Given the description of an element on the screen output the (x, y) to click on. 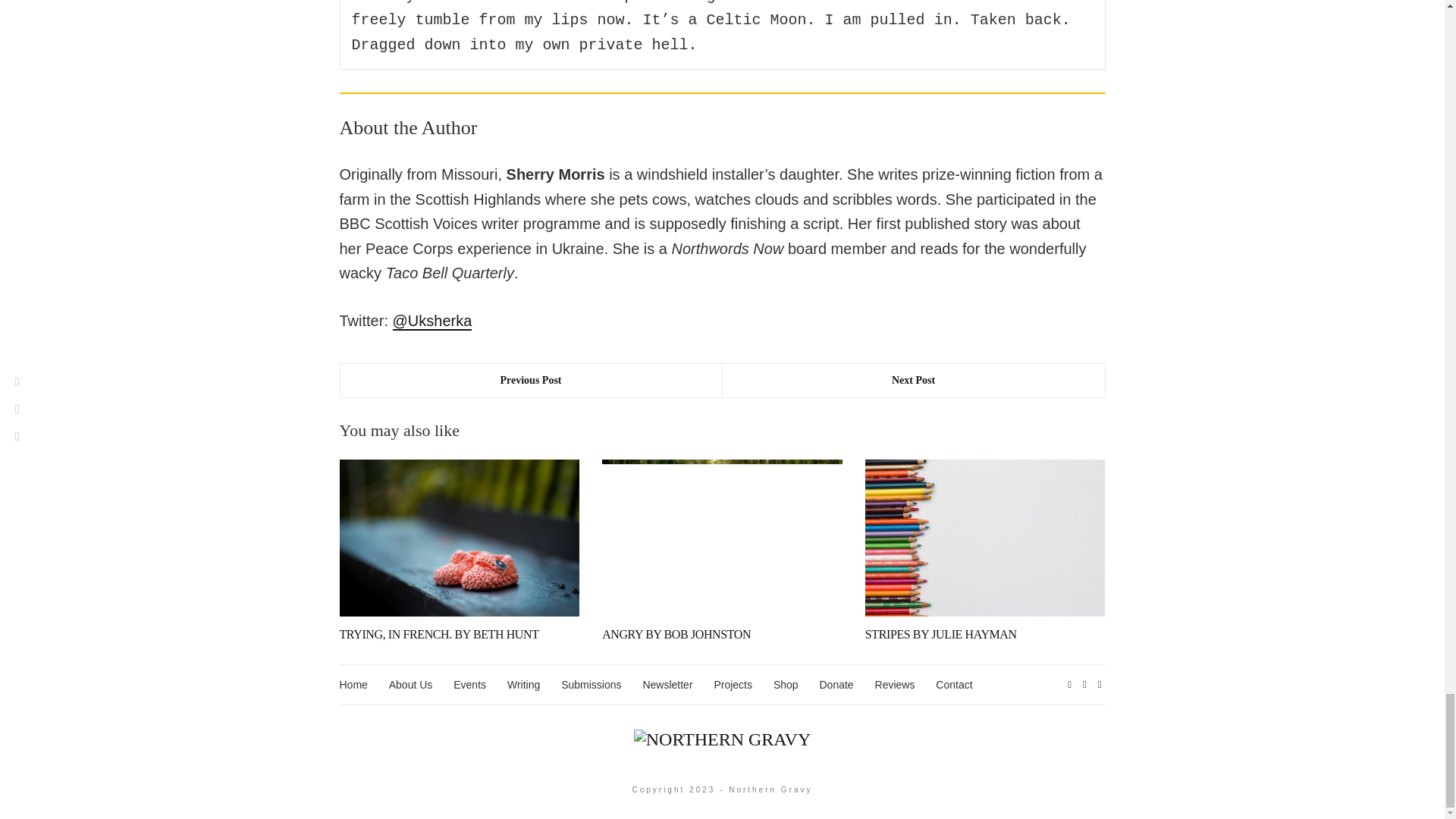
Previous Post (530, 380)
Next Post (912, 380)
ANGRY BY BOB JOHNSTON (676, 634)
Home (353, 684)
TRYING, IN FRENCH. BY BETH HUNT (438, 634)
STRIPES BY JULIE HAYMAN (940, 634)
